Given the description of an element on the screen output the (x, y) to click on. 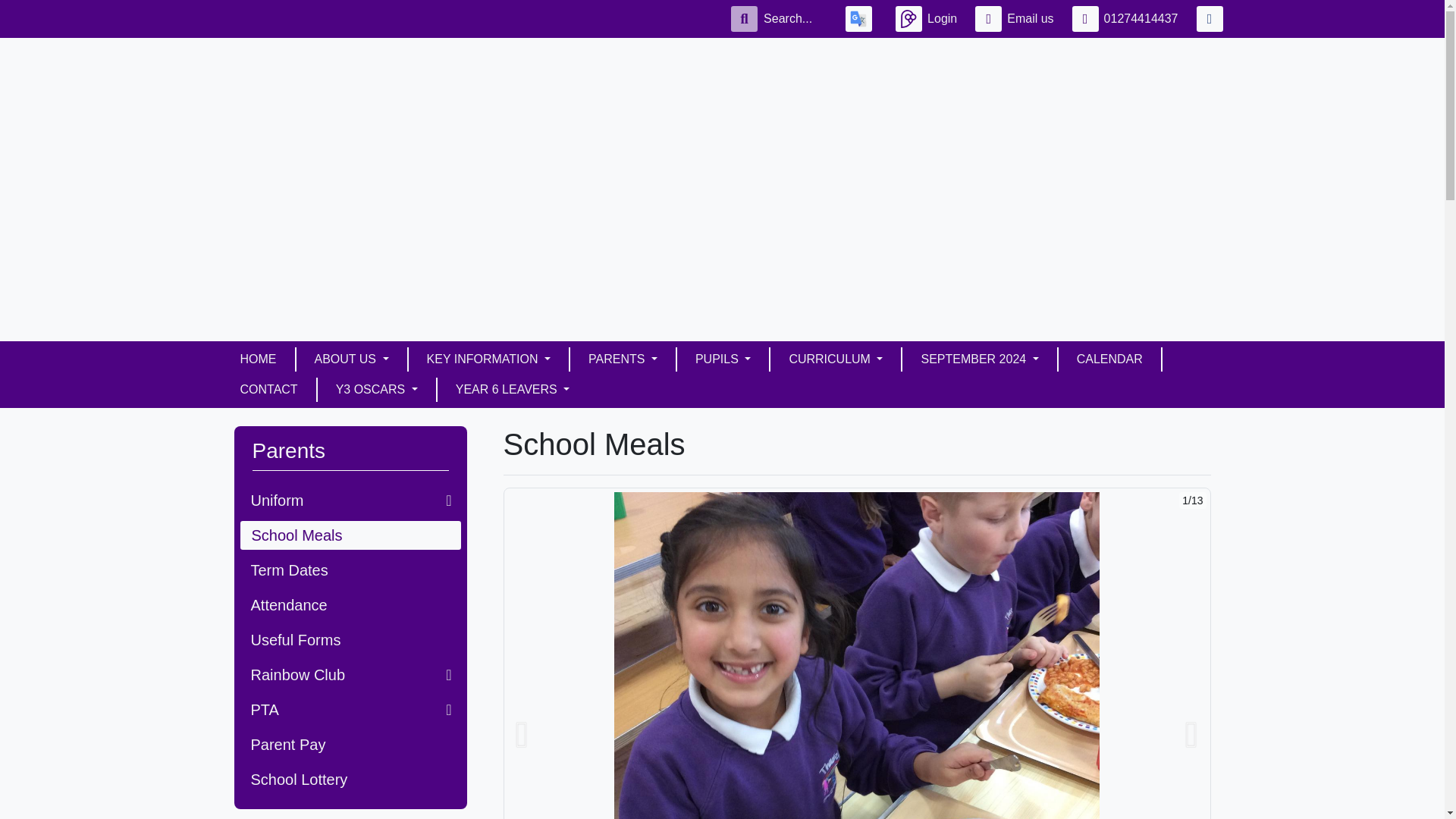
Email us (1017, 18)
Login (928, 18)
01274414437 (1128, 18)
